Given the description of an element on the screen output the (x, y) to click on. 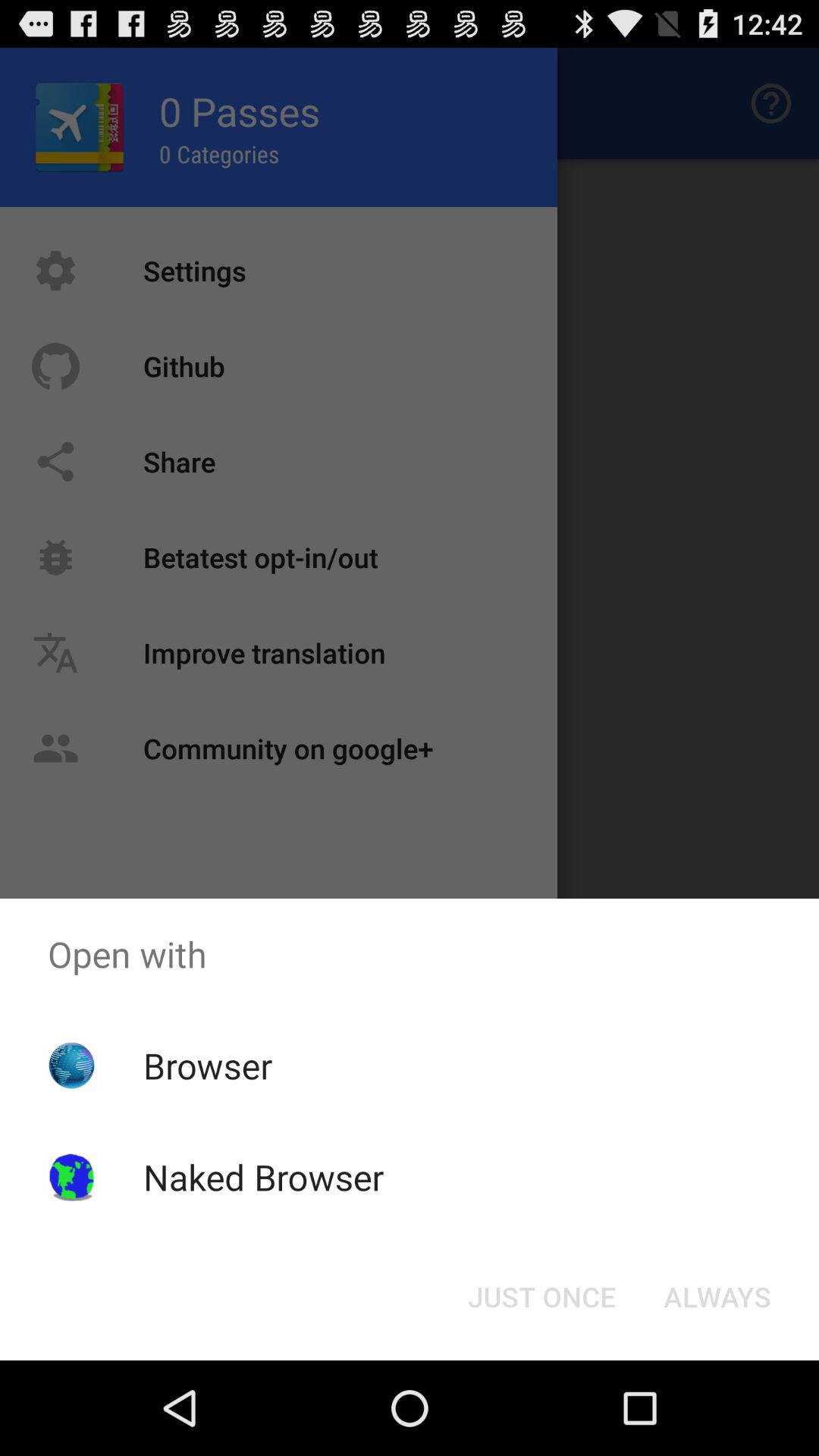
press the always icon (717, 1296)
